Given the description of an element on the screen output the (x, y) to click on. 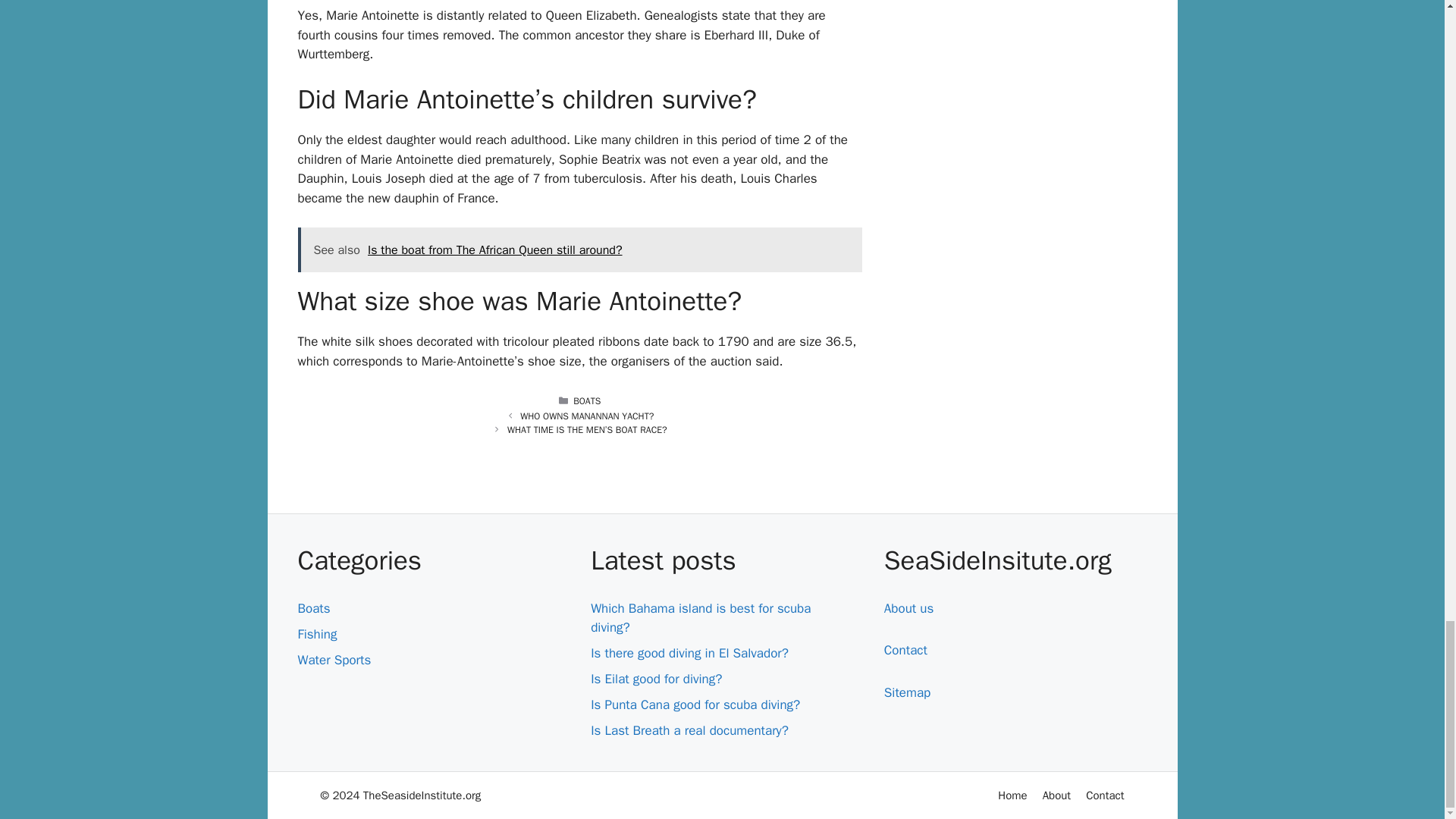
Is there good diving in El Salvador? (690, 652)
Boats (313, 608)
Which Bahama island is best for scuba diving? (700, 618)
See also  Is the boat from The African Queen still around? (579, 249)
Is Eilat good for diving? (656, 678)
Fishing (316, 634)
Water Sports (334, 659)
Is Punta Cana good for scuba diving? (695, 704)
BOATS (586, 400)
WHO OWNS MANANNAN YACHT? (586, 416)
